Given the description of an element on the screen output the (x, y) to click on. 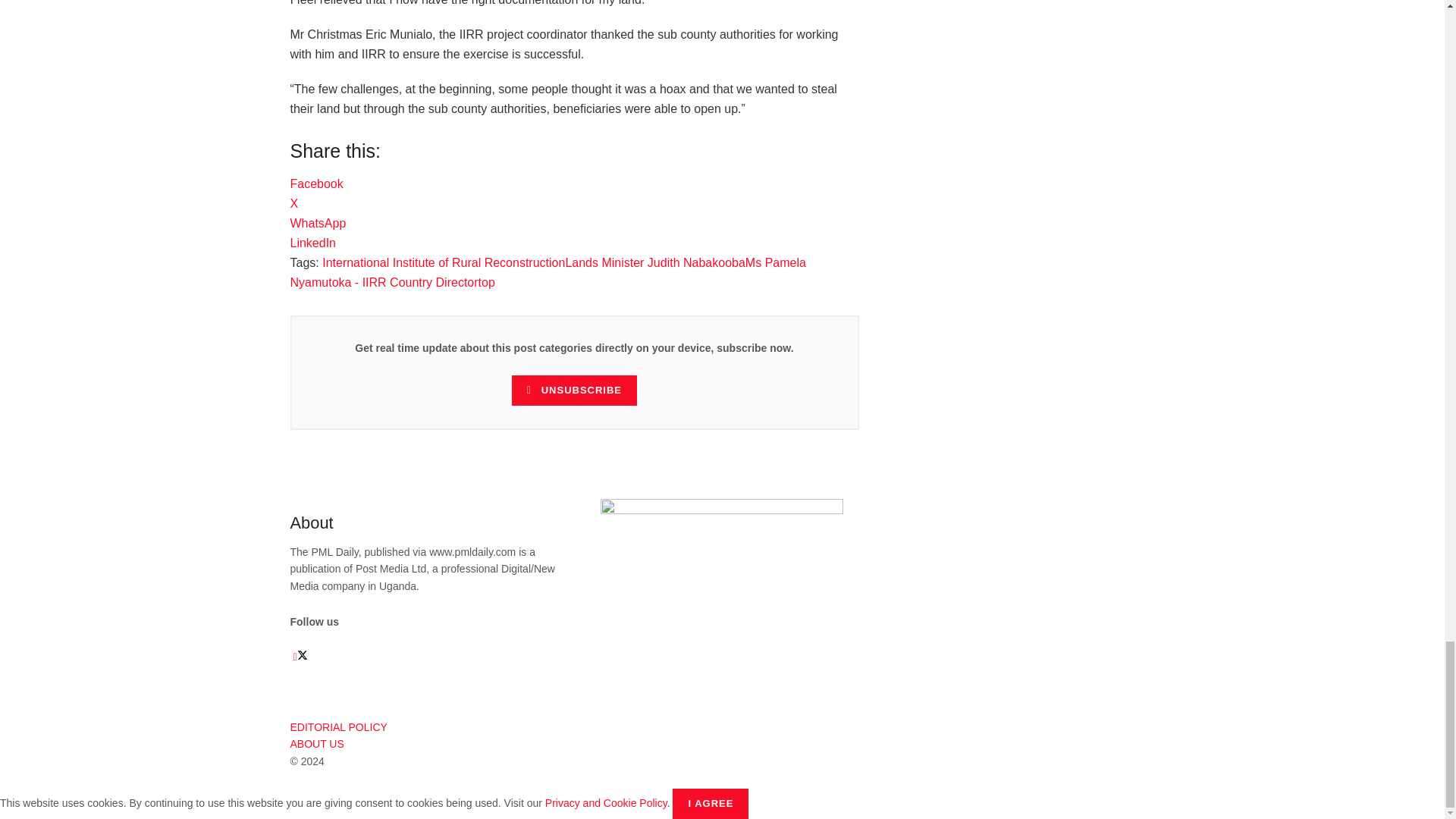
Click to share on Facebook (315, 183)
Click to share on LinkedIn (312, 242)
Click to share on WhatsApp (317, 223)
